Given the description of an element on the screen output the (x, y) to click on. 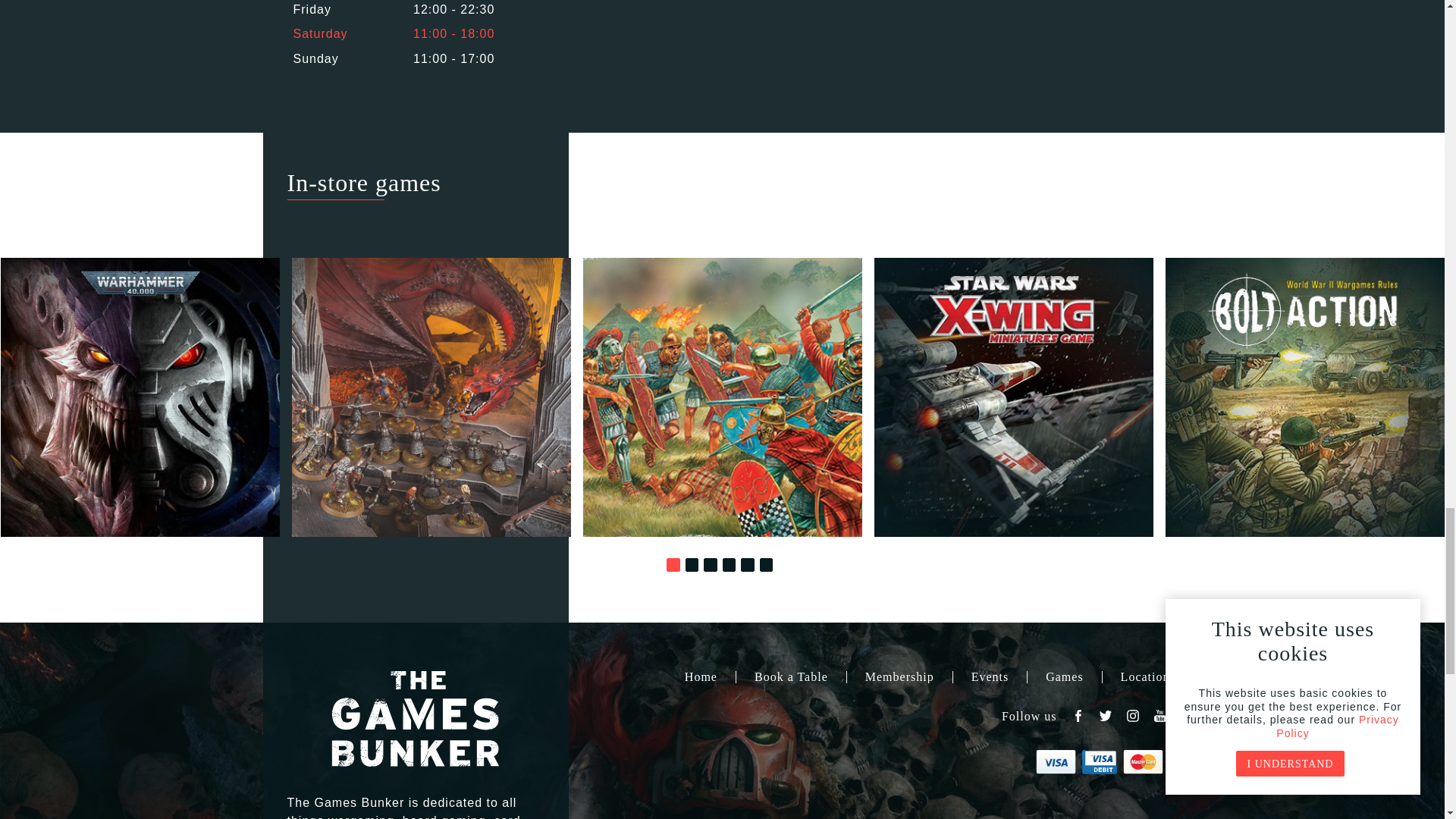
The Games Bunker Logo (415, 718)
